Given the description of an element on the screen output the (x, y) to click on. 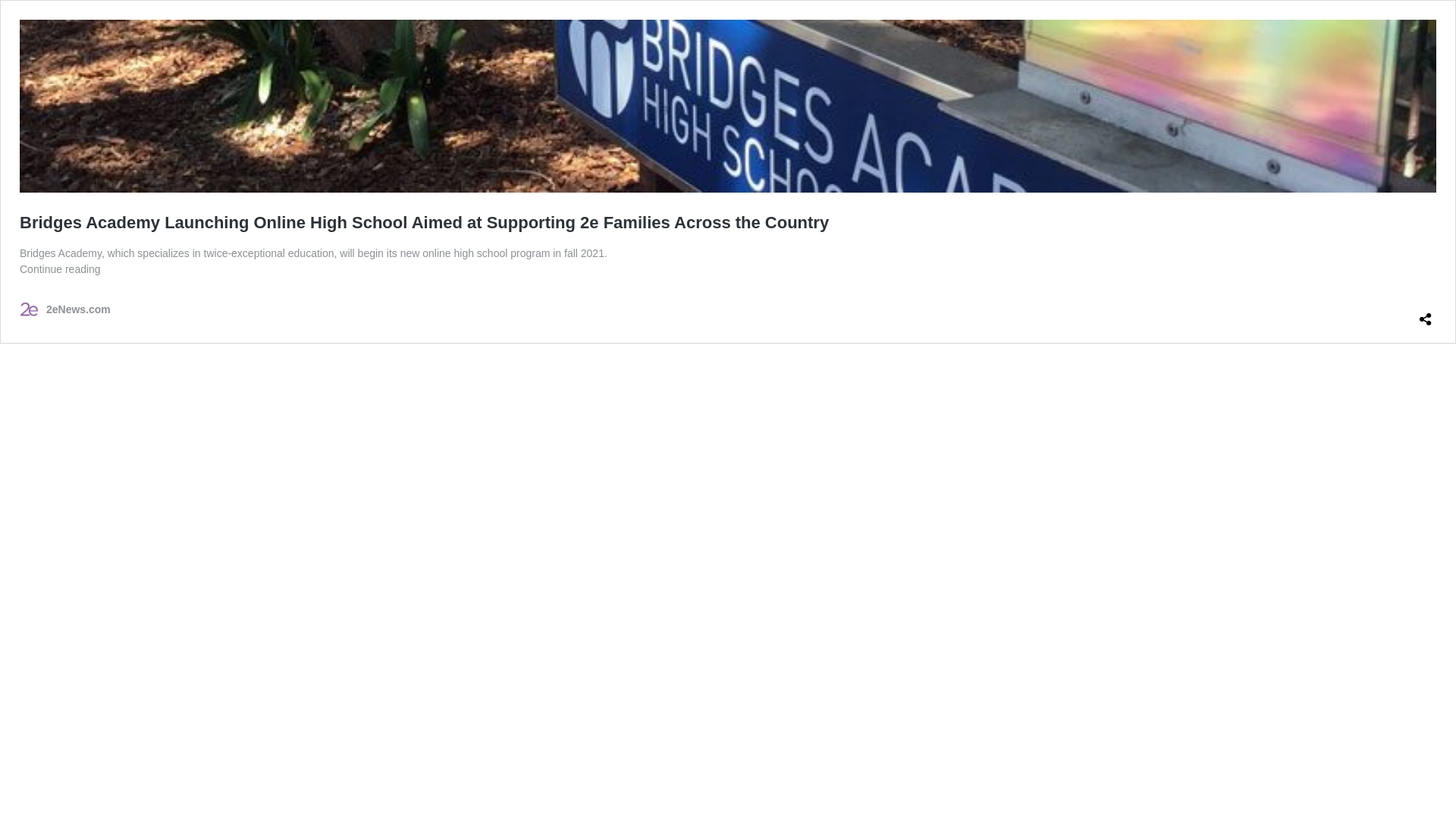
2eNews.com Element type: text (64, 309)
Continue reading Element type: text (59, 269)
